Given the description of an element on the screen output the (x, y) to click on. 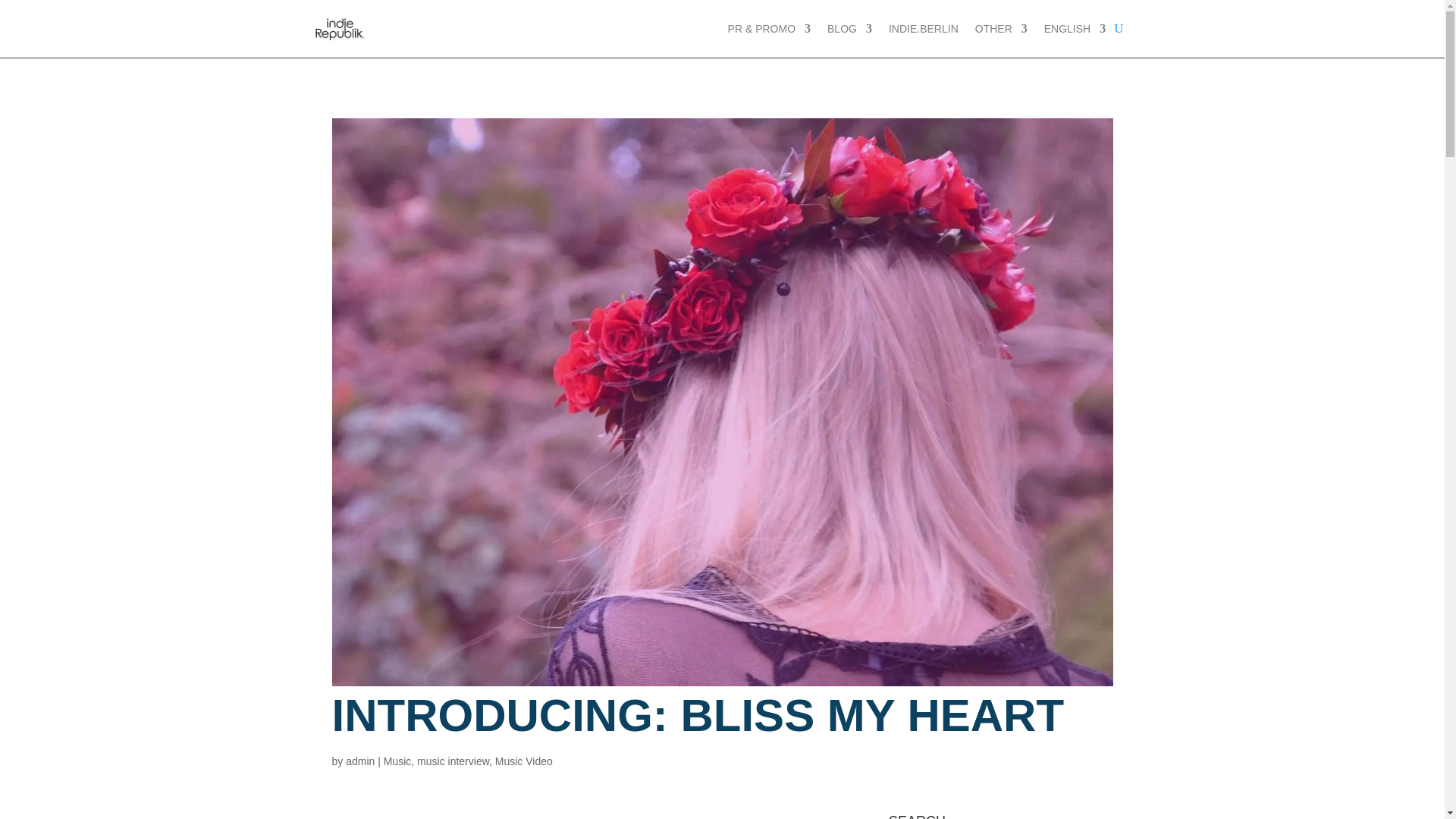
English (1074, 28)
Posts by admin (360, 761)
OTHER (1001, 28)
ENGLISH (1074, 28)
INDIE.BERLIN (923, 28)
